Given the description of an element on the screen output the (x, y) to click on. 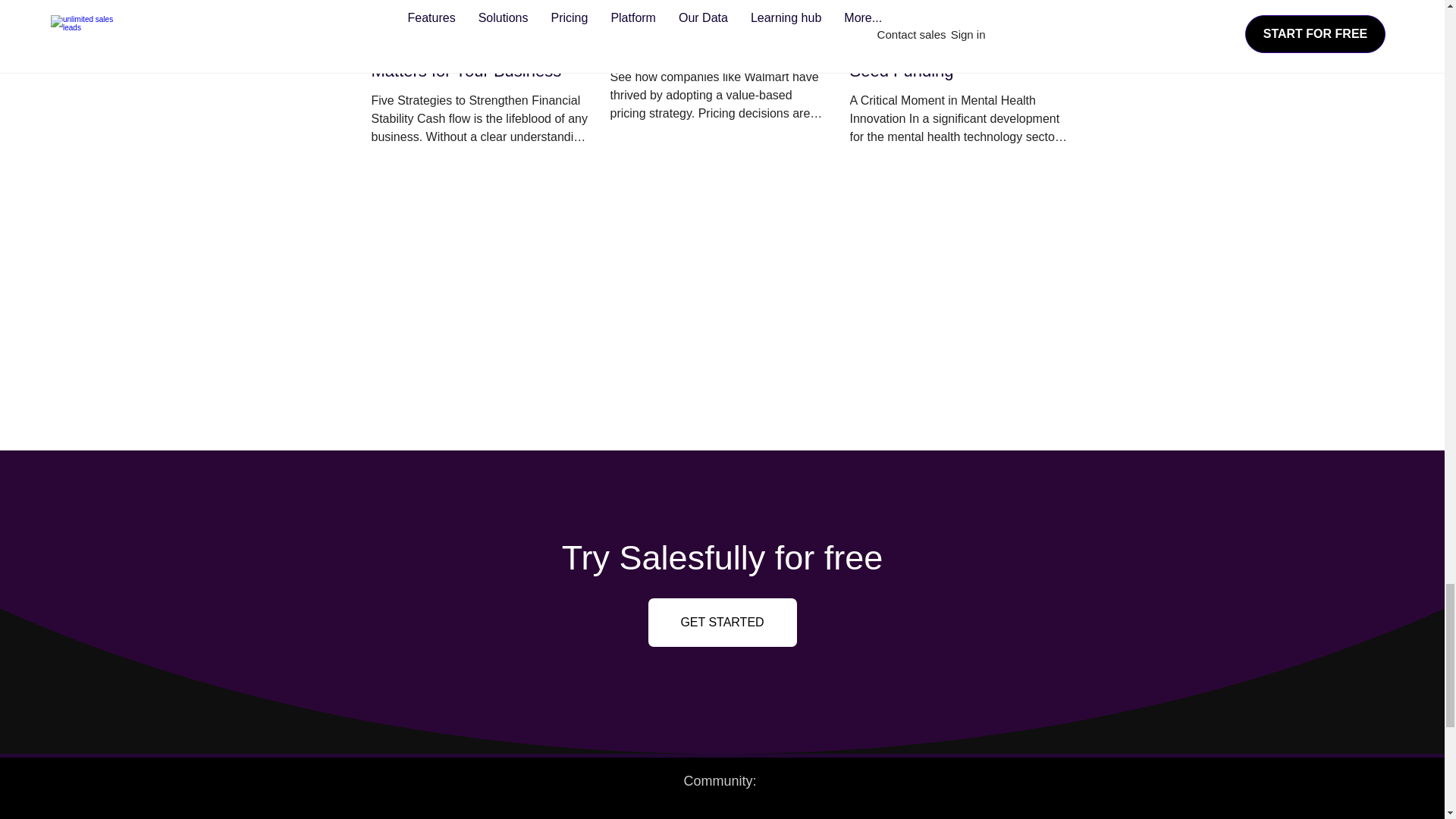
Embrace the Value Mindset for Entrepreneurial Success (719, 36)
GET STARTED (721, 622)
